Given the description of an element on the screen output the (x, y) to click on. 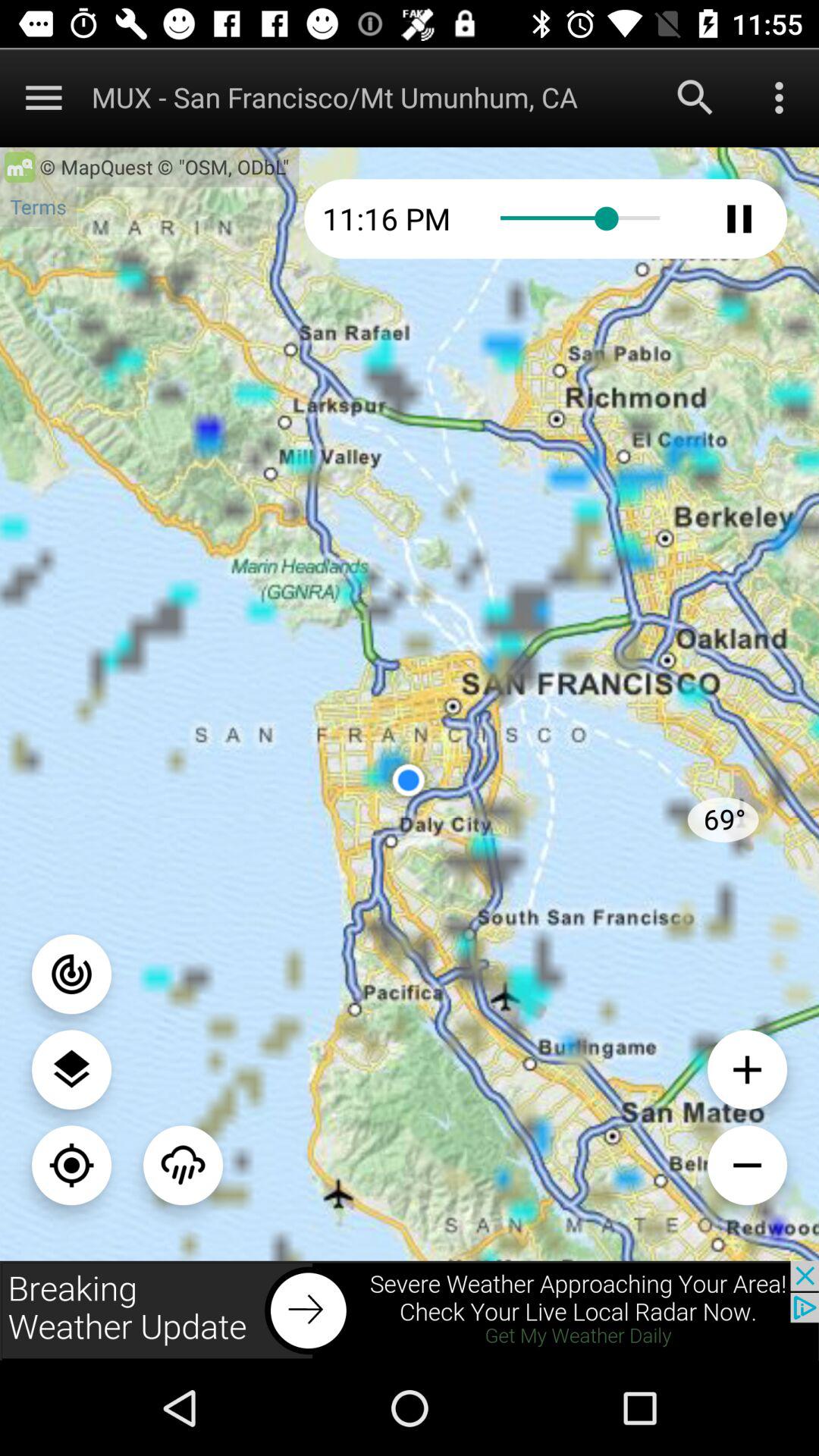
find current location (71, 1165)
